Given the description of an element on the screen output the (x, y) to click on. 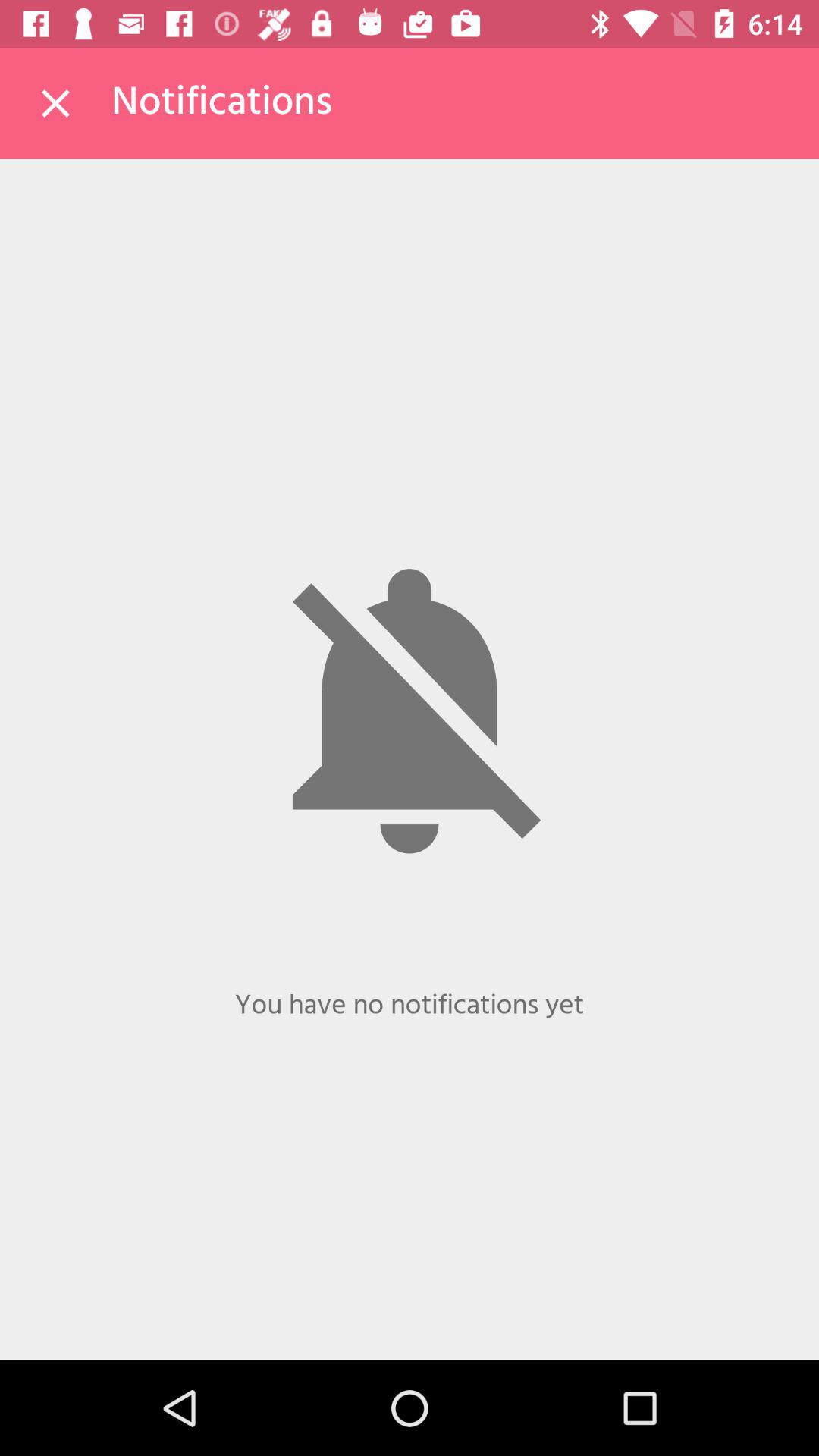
turn on the item next to notifications item (55, 103)
